Given the description of an element on the screen output the (x, y) to click on. 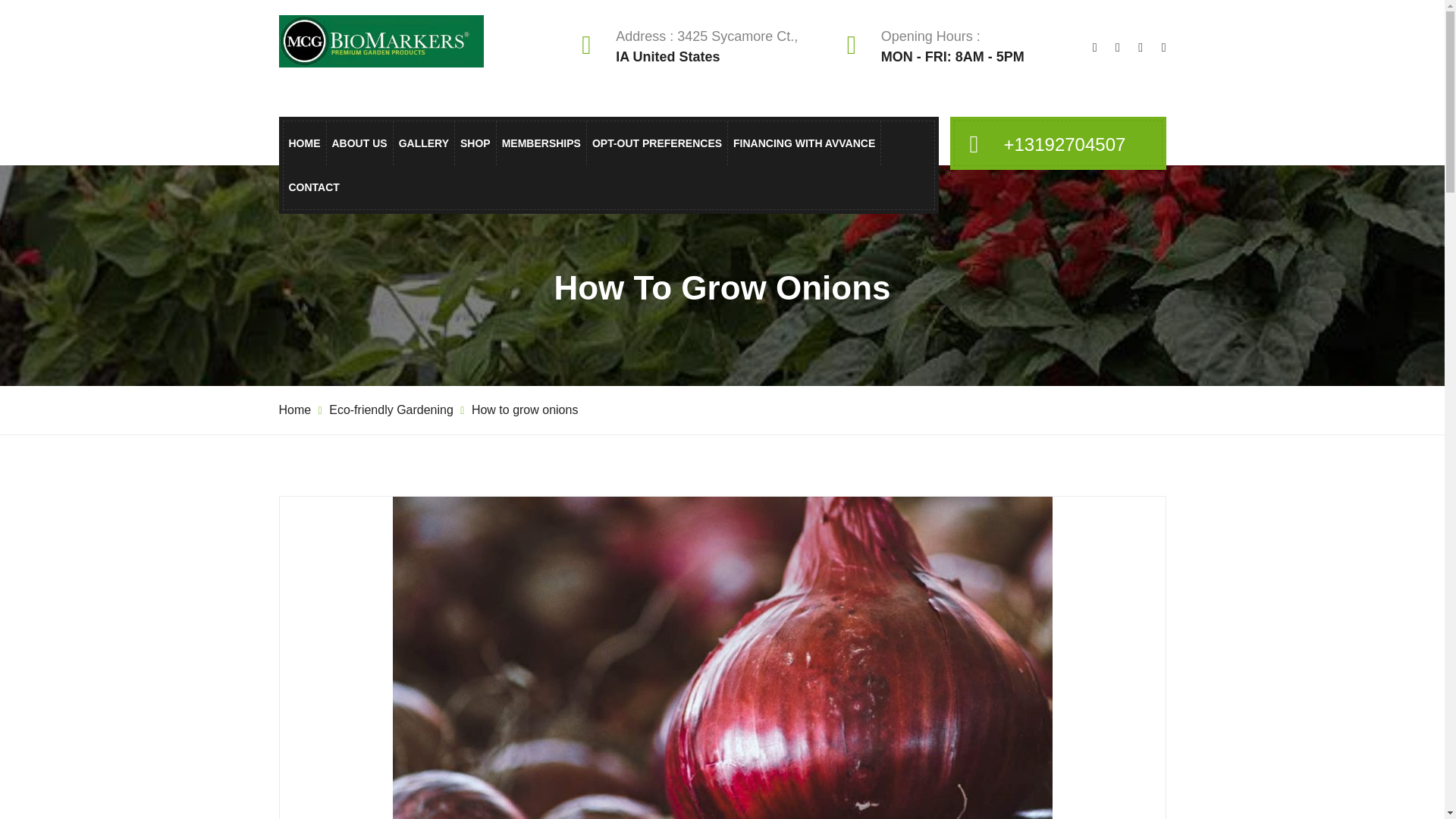
Video (575, 273)
Blog (575, 240)
MCG BioComposites (508, 240)
SHOP (475, 142)
ABOUT US (359, 142)
GALLERY (423, 142)
Case Study (575, 207)
What Is BioMass (508, 207)
MEMBERSHIPS (541, 142)
HOME (304, 142)
